Given the description of an element on the screen output the (x, y) to click on. 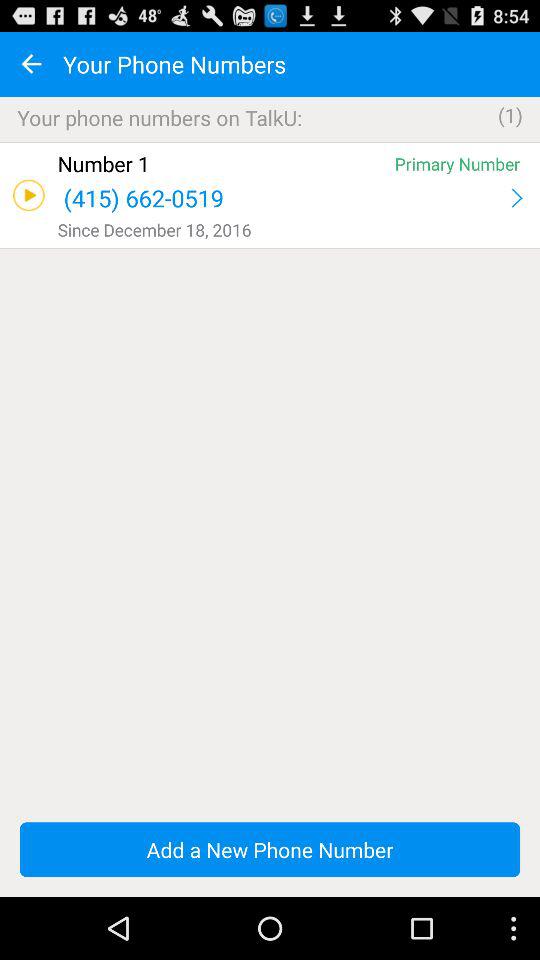
flip until primary number app (457, 163)
